Given the description of an element on the screen output the (x, y) to click on. 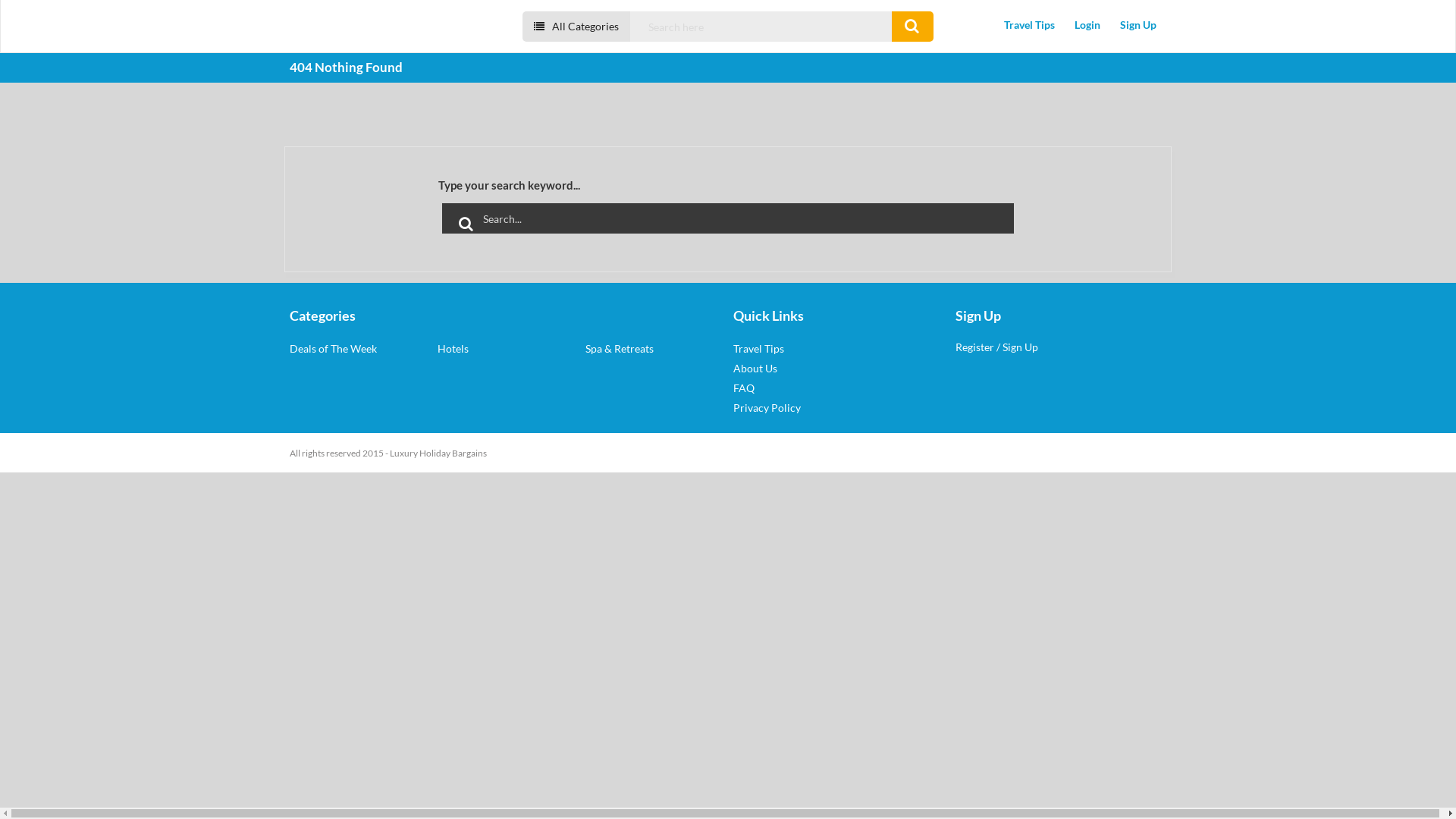
Hotels Element type: text (452, 348)
FAQ Element type: text (743, 387)
About Us Element type: text (755, 367)
Login Element type: text (1086, 24)
Travel Tips Element type: text (758, 348)
All Categories Element type: text (576, 26)
Spa & Retreats Element type: text (619, 348)
Privacy Policy Element type: text (766, 407)
Sign Up Element type: text (1138, 24)
Register / Sign Up Element type: text (996, 346)
Deals of The Week Element type: text (332, 348)
Travel Tips Element type: text (1029, 24)
